Given the description of an element on the screen output the (x, y) to click on. 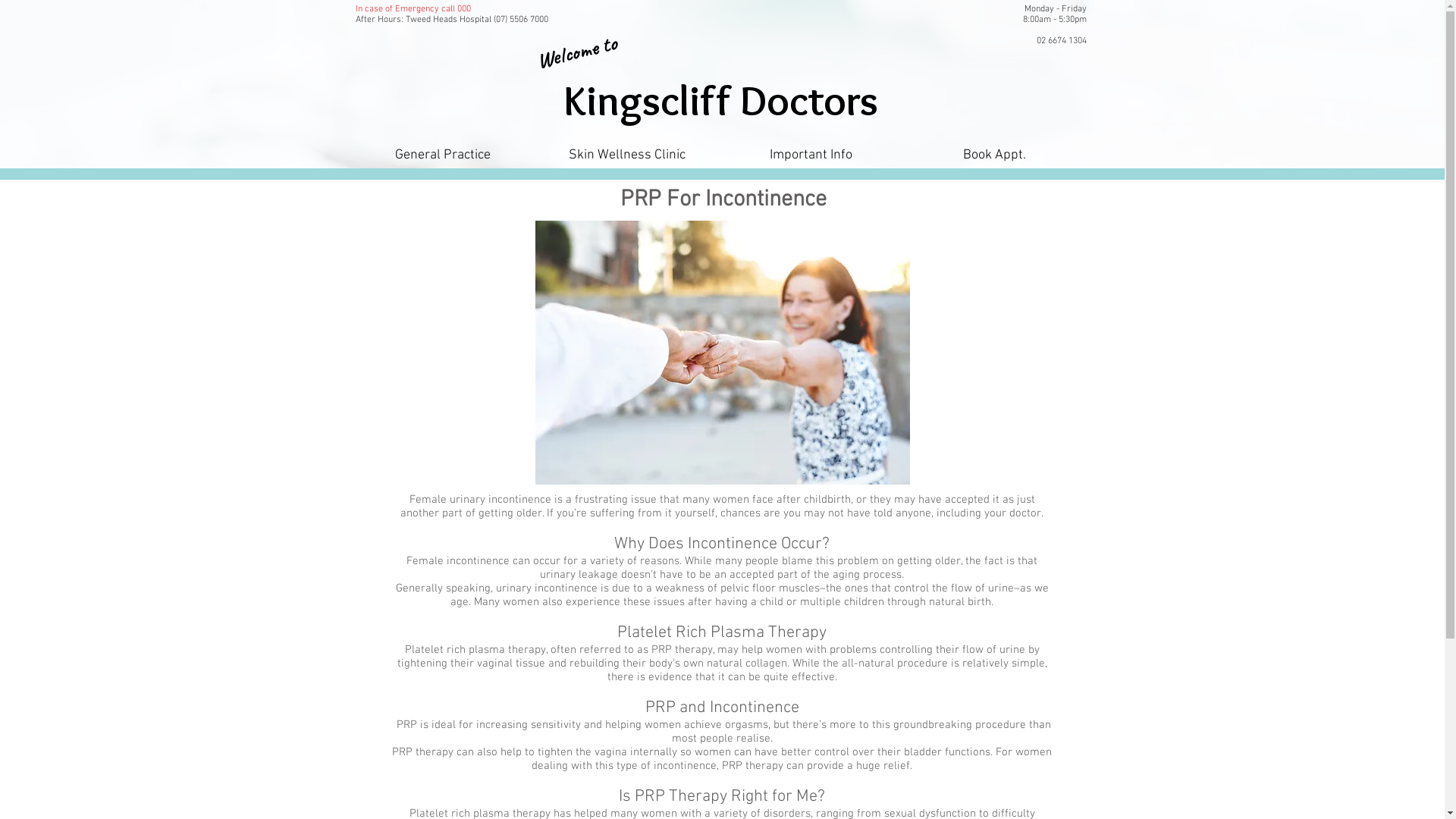
problems controlling their flow Element type: text (906, 649)
Important Info Element type: text (810, 154)
After Hours: Tweed Heads Hospital (07) 5506 7000 Element type: text (450, 19)
General Practice Element type: text (442, 154)
Book Appt. Element type: text (993, 154)
urinary leakage Element type: text (578, 574)
Skin Wellness Clinic Element type: text (627, 154)
In case of Emergency call 000 Element type: text (412, 8)
Monday - Friday
8:00am - 5:30pm
 
02 6674 1304 Element type: text (1053, 24)
